Given the description of an element on the screen output the (x, y) to click on. 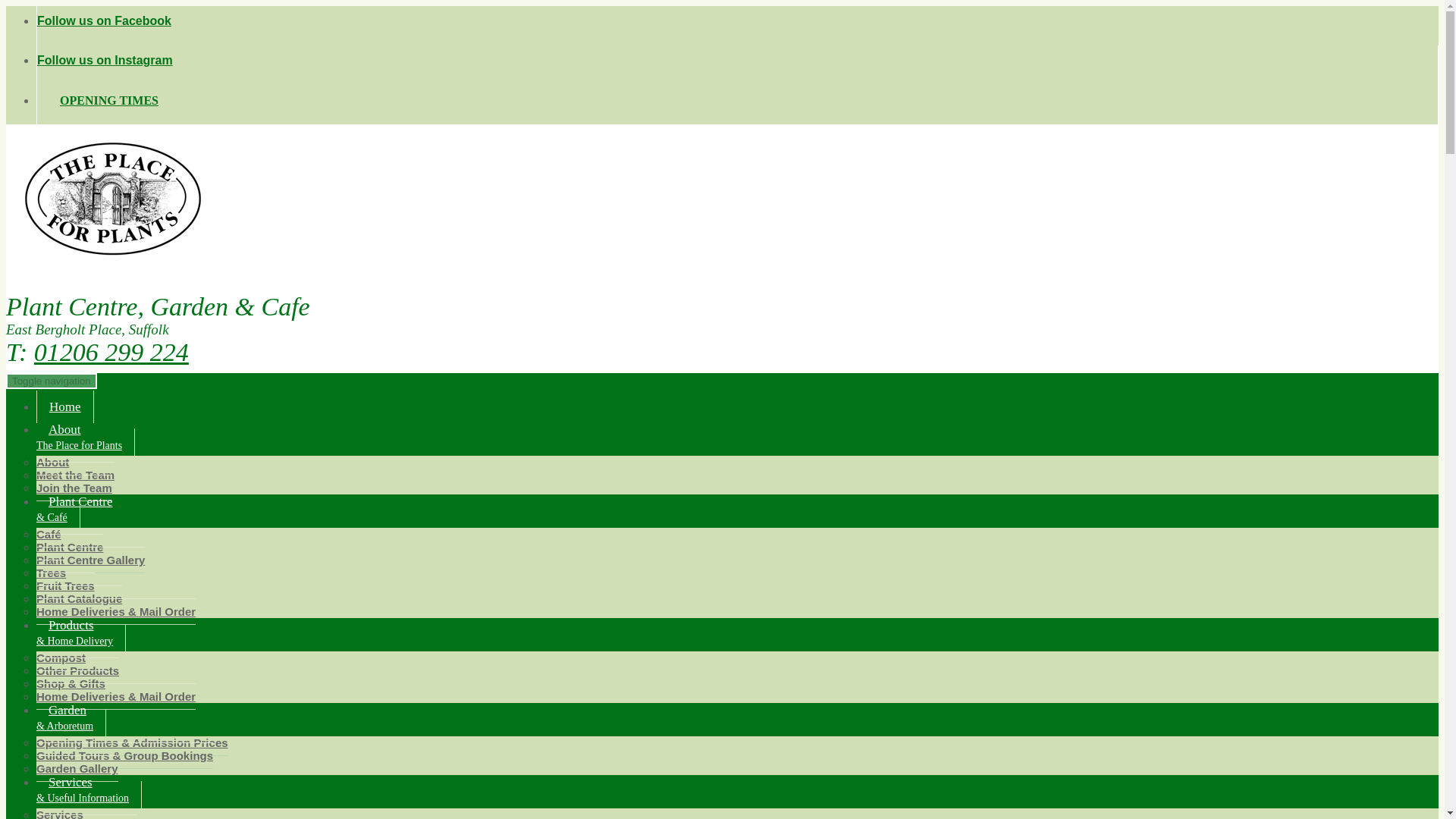
Services (59, 810)
Other Products (77, 670)
Useful Information (86, 816)
Plant Catalogue (79, 598)
About (52, 462)
Compost (60, 657)
Toggle navigation (51, 381)
Fruit Trees (65, 585)
Plant Centre Gallery (90, 560)
Plant Centre (69, 546)
Meet the Team (75, 474)
Garden Gallery (76, 768)
Join the Team (85, 437)
Fruit Trees (74, 488)
